Given the description of an element on the screen output the (x, y) to click on. 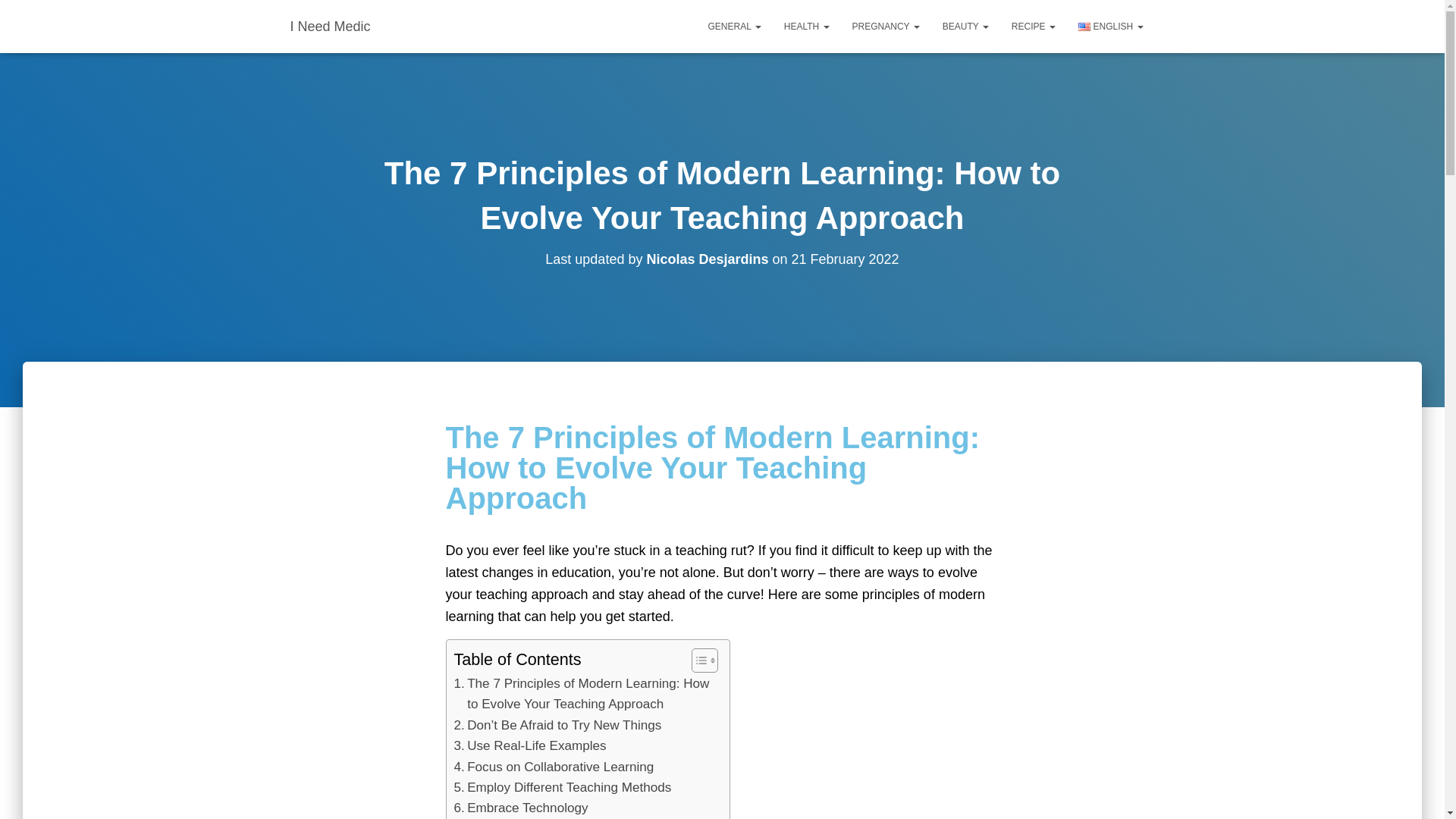
I Need Medic (330, 26)
PREGNANCY (886, 26)
Employ Different Teaching Methods (561, 787)
Recipe (1033, 26)
Embrace Technology (520, 807)
ENGLISH (1110, 26)
BEAUTY (965, 26)
Health (807, 26)
RECIPE (1033, 26)
Beauty (965, 26)
Pregnancy (886, 26)
Nicolas Desjardins (707, 258)
GENERAL (735, 26)
Focus on Collaborative Learning (552, 766)
I Need Medic (330, 26)
